Given the description of an element on the screen output the (x, y) to click on. 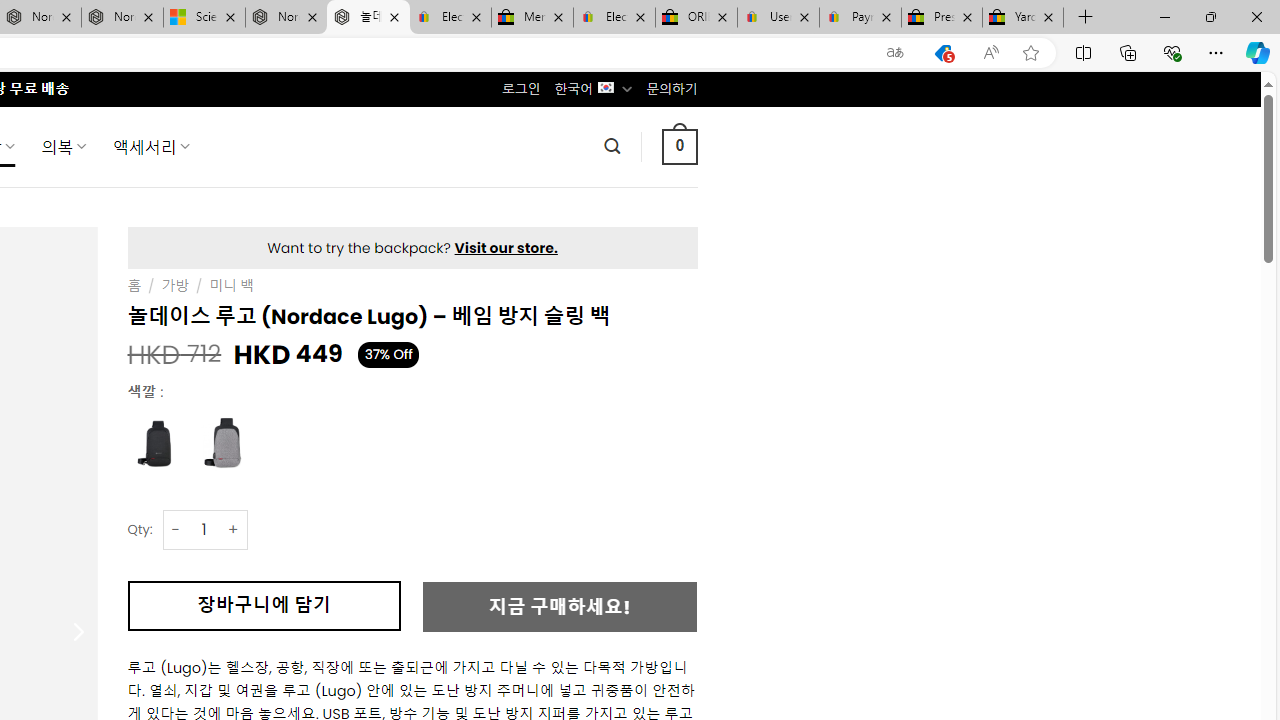
You have the best price! (943, 53)
